Given the description of an element on the screen output the (x, y) to click on. 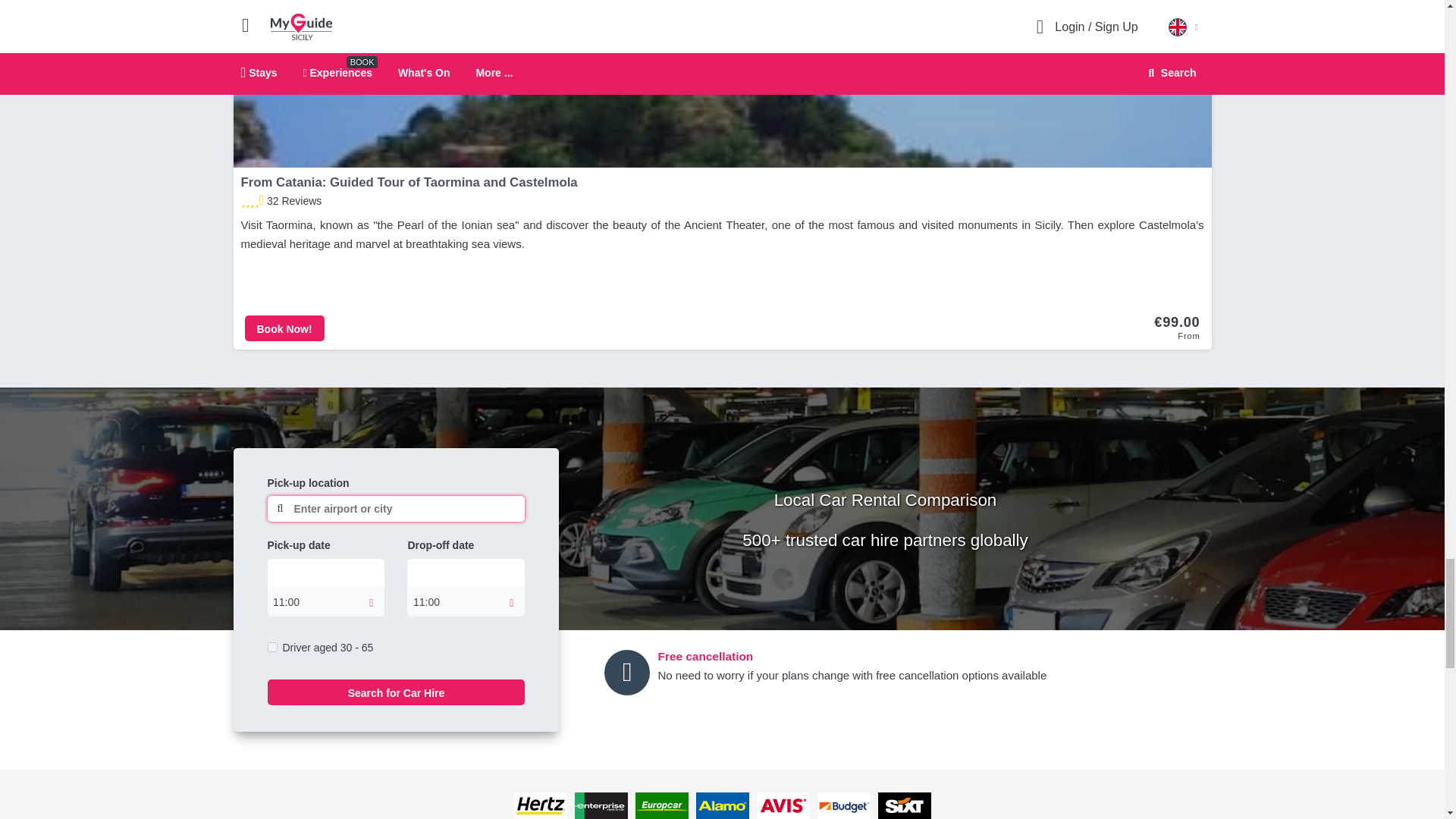
on (271, 646)
